Given the description of an element on the screen output the (x, y) to click on. 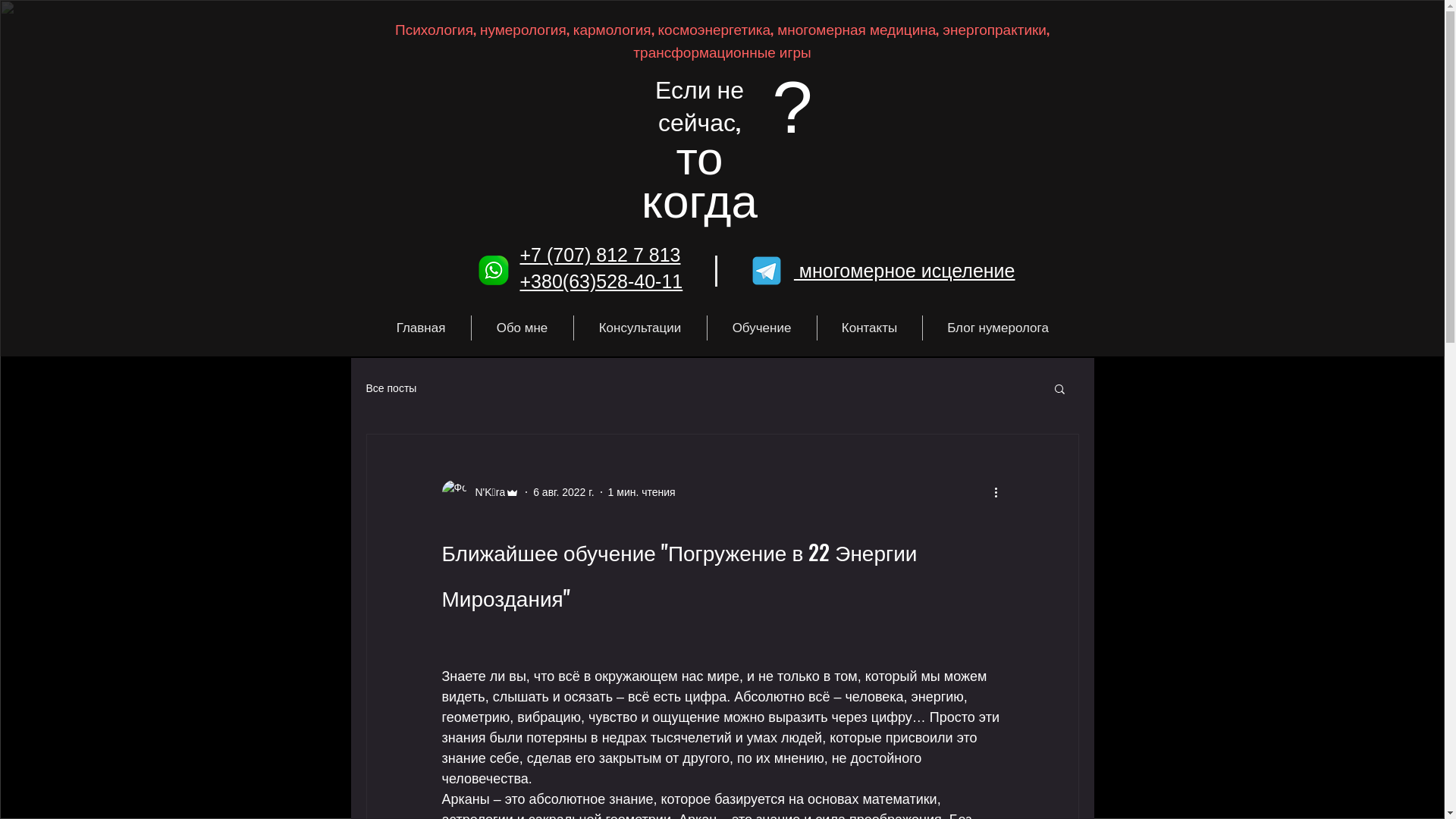
+380(63)528-40-11 Element type: text (601, 280)
+7 (707) 812 7 813 Element type: text (600, 254)
